Given the description of an element on the screen output the (x, y) to click on. 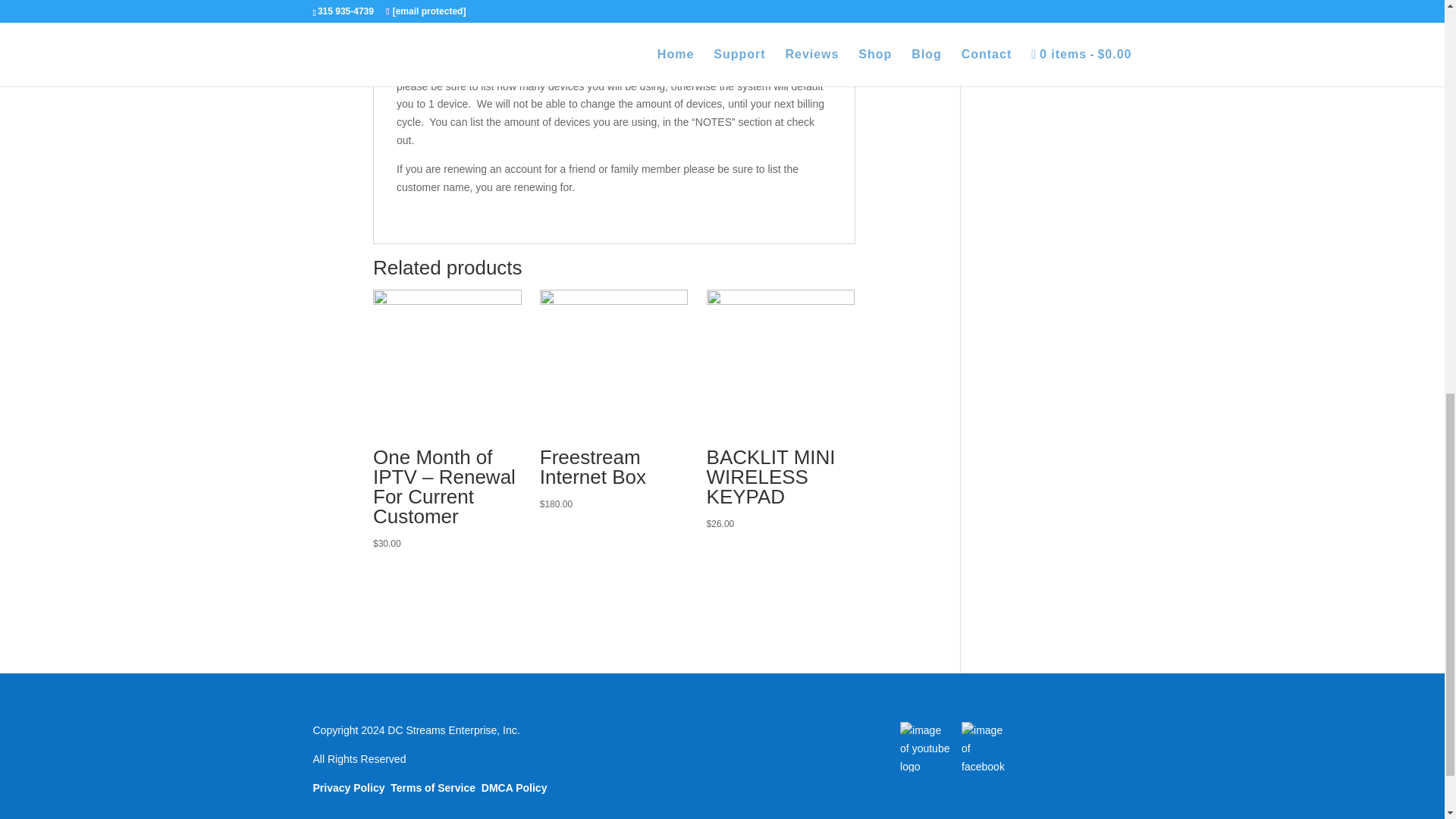
DMCA Policy (514, 787)
Terms of Service (433, 787)
Privacy Policy (348, 787)
